Given the description of an element on the screen output the (x, y) to click on. 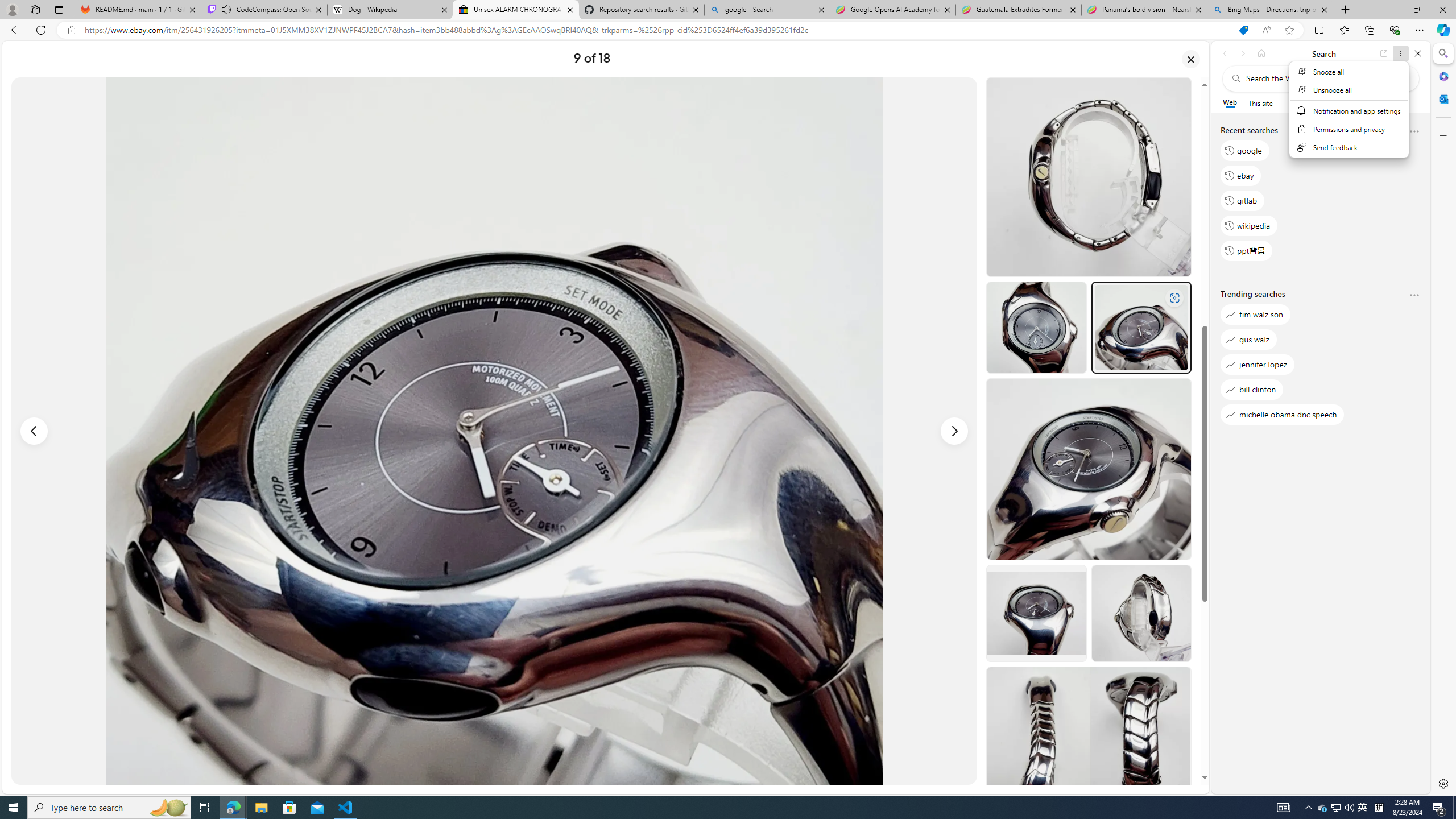
google (1244, 150)
Context (1348, 115)
Permissions and privacy (1349, 129)
Next image - Item images thumbnails (954, 430)
Search the web (1326, 78)
Dog - Wikipedia (389, 9)
You have the best price! Shopping in Microsoft Edge (1243, 29)
Notification and app settings (1349, 110)
